Given the description of an element on the screen output the (x, y) to click on. 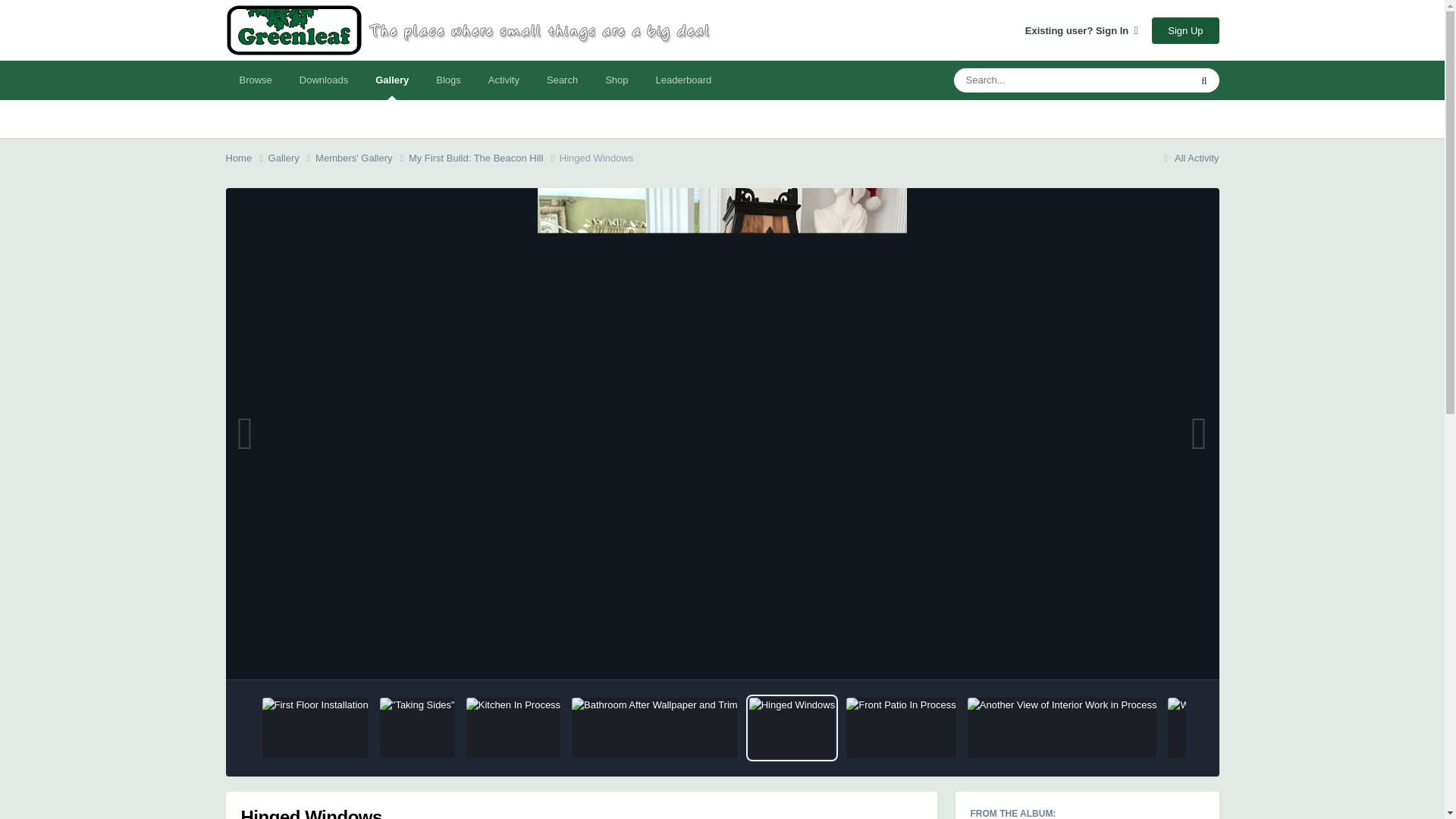
Activity (503, 79)
View the image White Stained Kitchen Floor (1234, 727)
View the image Hinged Windows (792, 727)
Shop (616, 79)
View the image Front Patio In Process (900, 727)
Search (561, 79)
View the image "Taking Sides" (417, 727)
View the image First Floor Installation (315, 727)
Home (246, 158)
View the image Kitchen In Process (512, 727)
Leaderboard (683, 79)
Gallery (291, 158)
View the image Bathroom After Wallpaper and Trim (655, 727)
View the image Another View of Interior Work in Process (1062, 727)
